Given the description of an element on the screen output the (x, y) to click on. 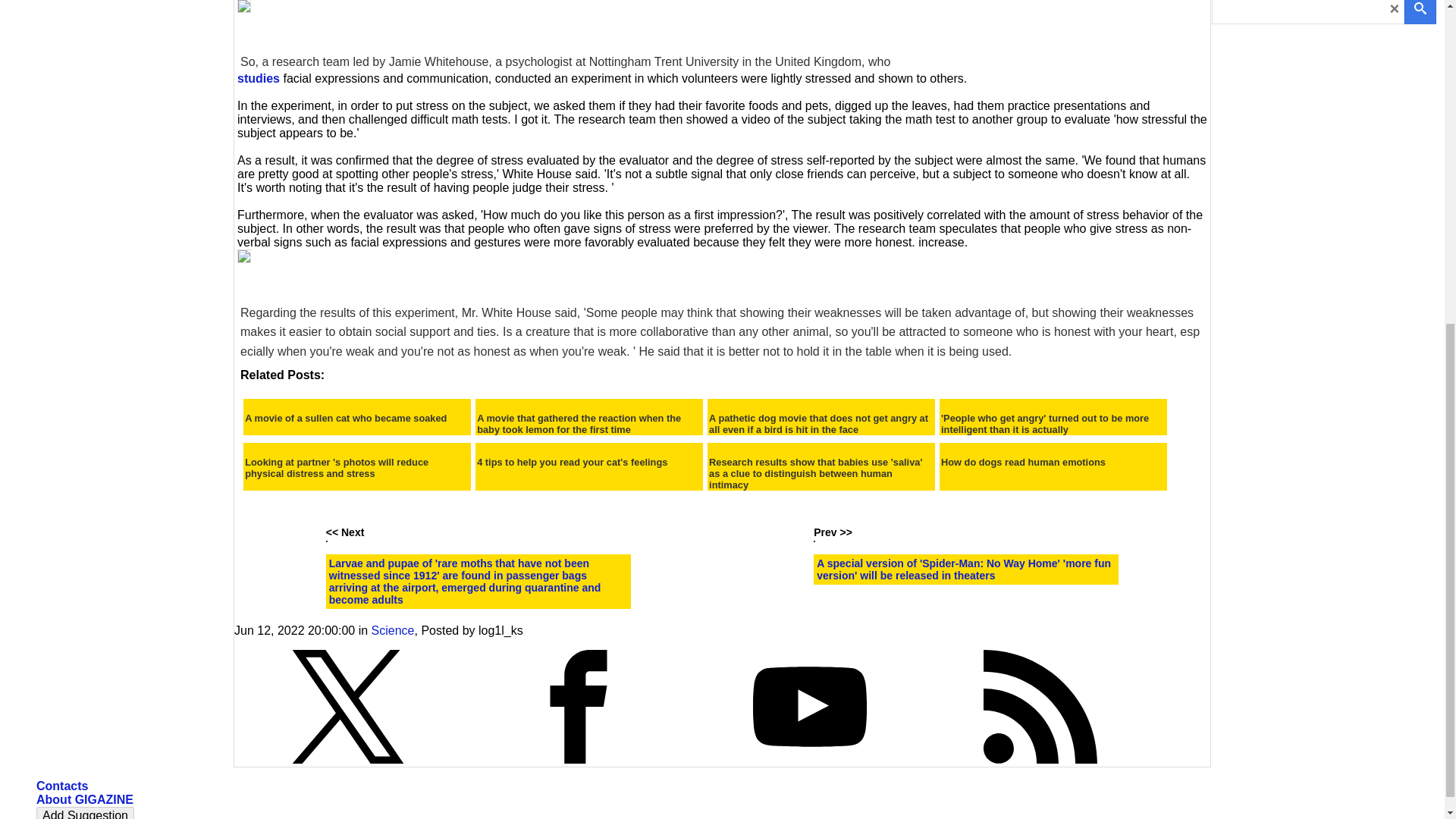
4 tips to help you read your cat's feelings (572, 461)
Science (392, 630)
A movie of a sullen cat who became soaked (345, 418)
studies (258, 78)
How do dogs read human emotions (1022, 461)
